Given the description of an element on the screen output the (x, y) to click on. 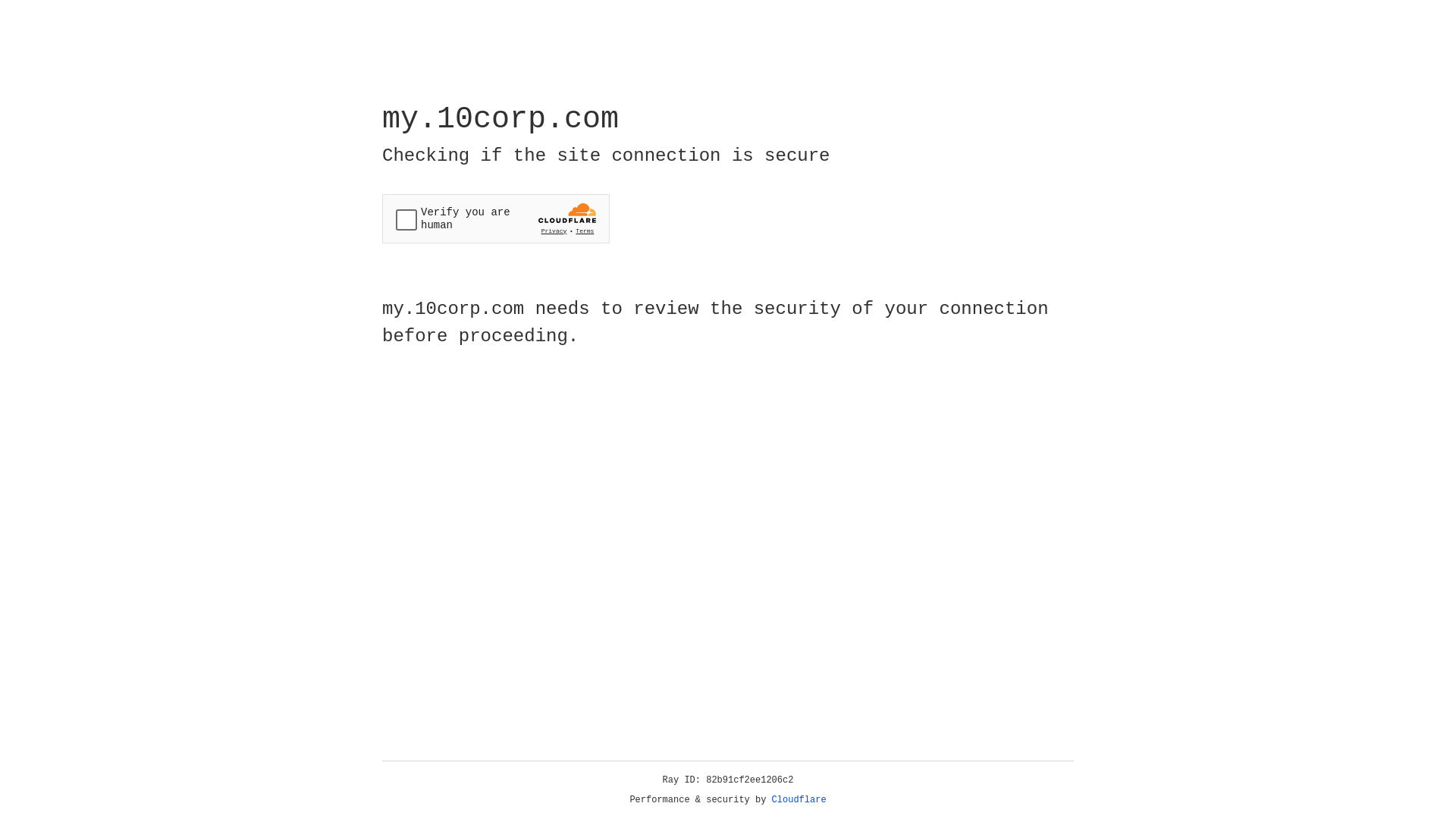
Cloudflare Element type: text (798, 799)
Widget containing a Cloudflare security challenge Element type: hover (495, 218)
